Given the description of an element on the screen output the (x, y) to click on. 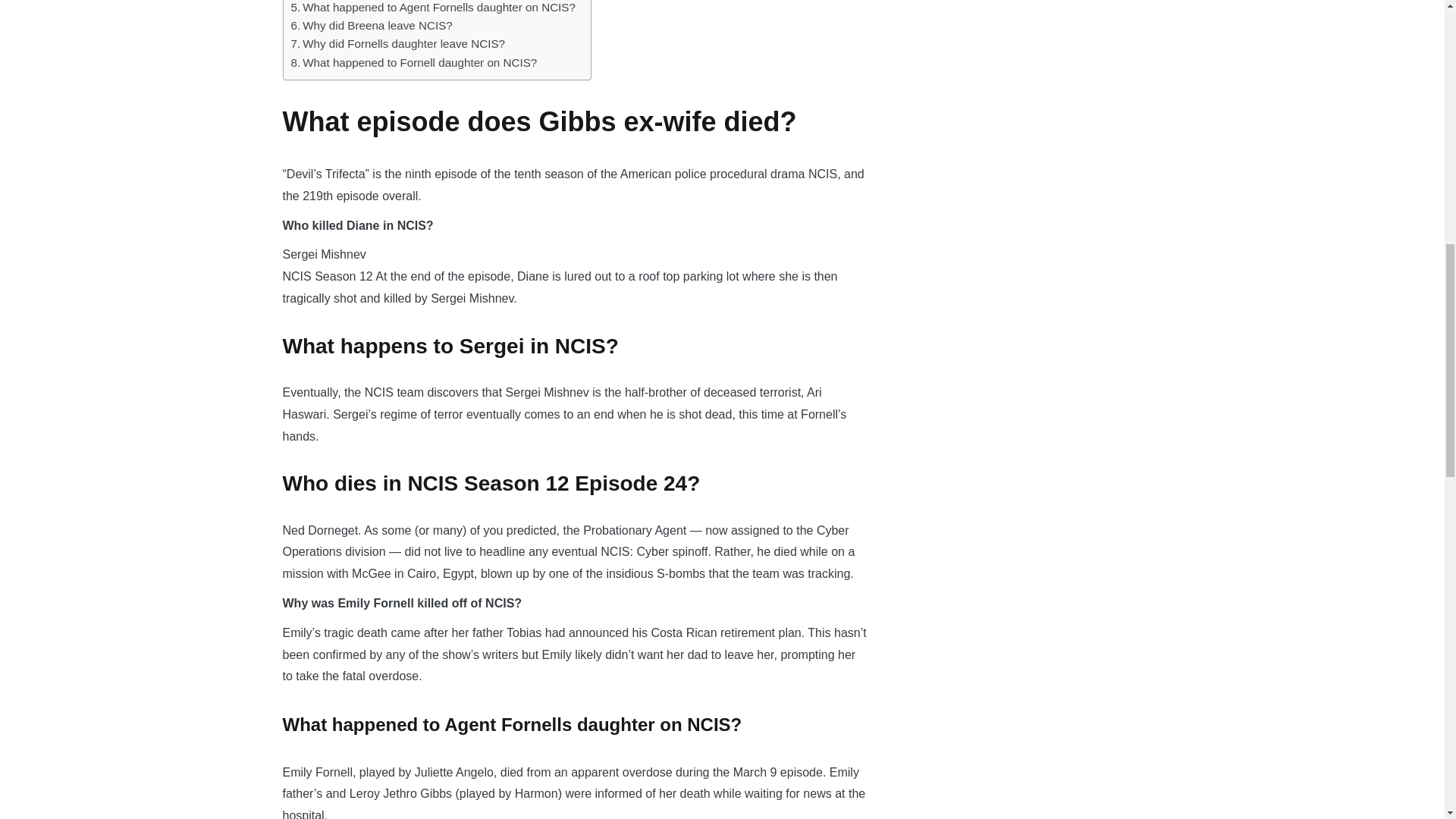
What happened to Fornell daughter on NCIS? (414, 63)
What happened to Fornell daughter on NCIS? (414, 63)
Why did Breena leave NCIS? (371, 25)
Why did Fornells daughter leave NCIS? (398, 44)
Why did Fornells daughter leave NCIS? (398, 44)
Why did Breena leave NCIS? (371, 25)
What happened to Agent Fornells daughter on NCIS? (433, 8)
What happened to Agent Fornells daughter on NCIS? (433, 8)
